Given the description of an element on the screen output the (x, y) to click on. 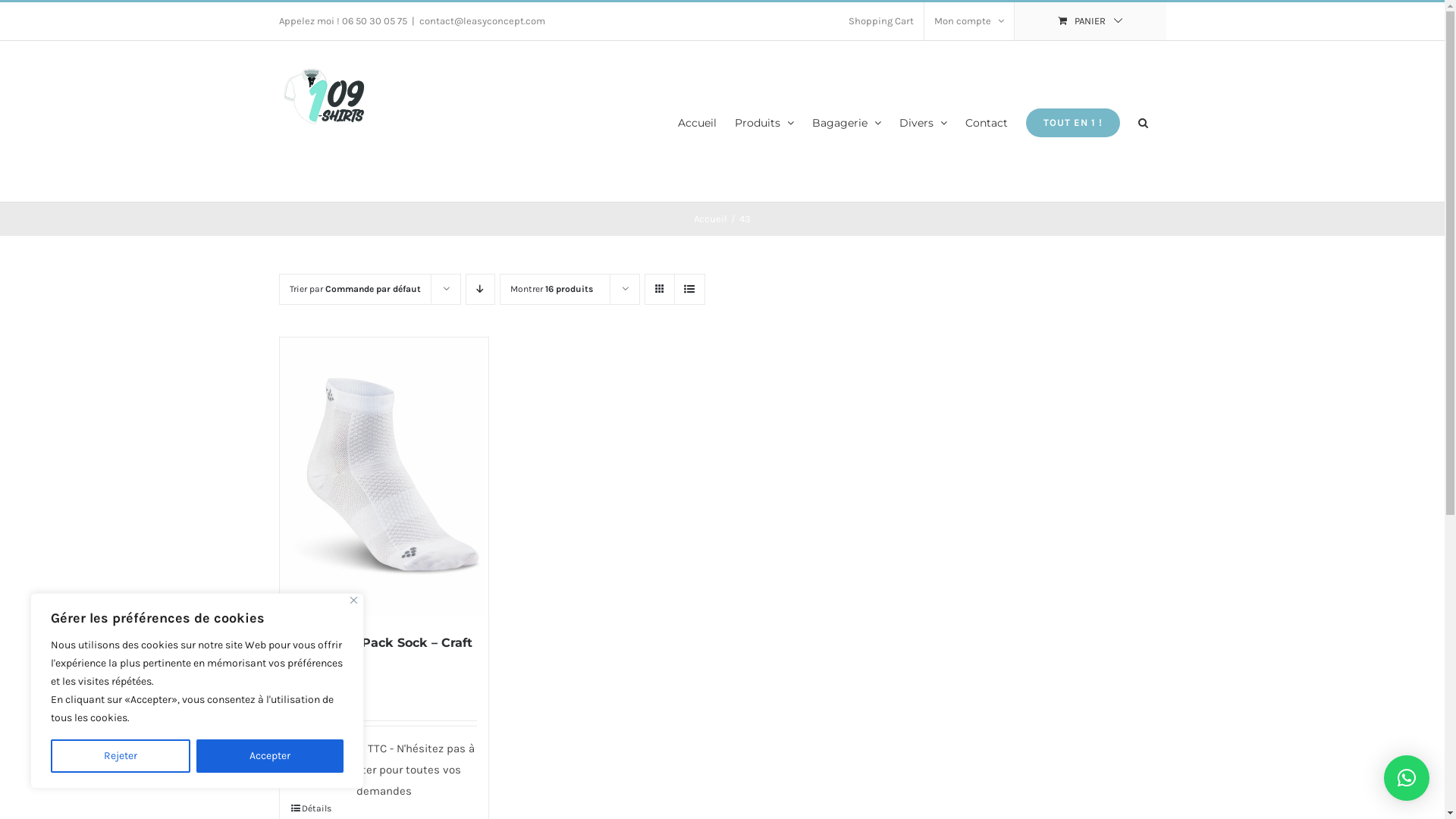
Mon compte Element type: text (968, 21)
Accepter Element type: text (269, 755)
PANIER Element type: text (1090, 21)
Produits Element type: text (763, 120)
Accueil Element type: text (710, 218)
Rejeter Element type: text (120, 755)
contact@leasyconcept.com Element type: text (481, 20)
Montrer 16 produits Element type: text (550, 288)
Bagagerie Element type: text (845, 120)
Divers Element type: text (923, 120)
Se connecter Element type: text (1006, 165)
Accueil Element type: text (696, 120)
Recherche Element type: hover (1142, 120)
Shopping Cart Element type: text (880, 21)
TOUT EN 1 ! Element type: text (1072, 120)
Contact Element type: text (985, 120)
